Given the description of an element on the screen output the (x, y) to click on. 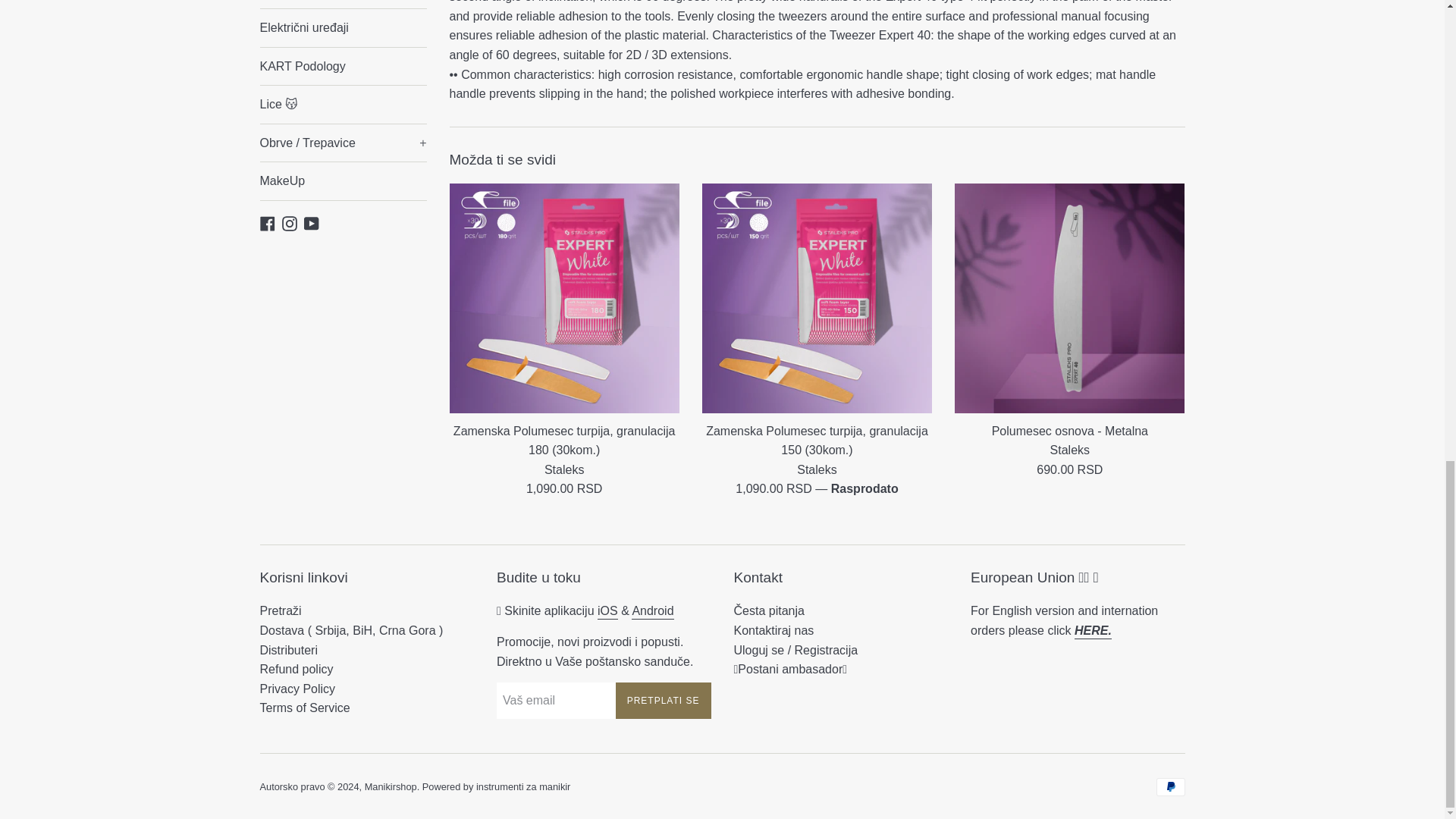
Manikirshop na YouTube (311, 222)
Manikirshop na Instagram (289, 222)
Manikirshop na Facebook (267, 222)
Polumesec osnova - Metalna (1070, 298)
PayPal (1170, 787)
